Given the description of an element on the screen output the (x, y) to click on. 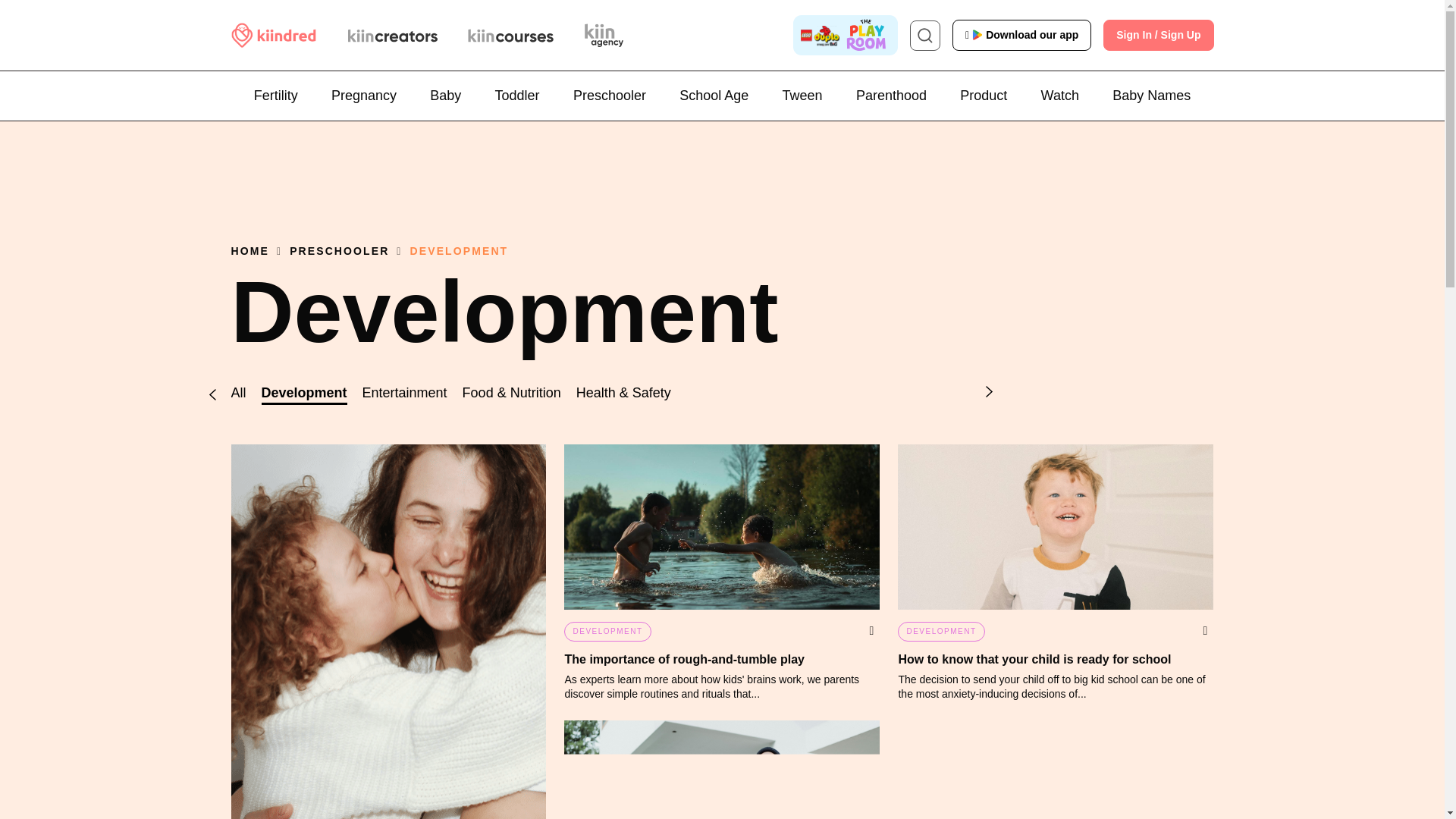
Lego Duplo (845, 35)
Fertility (275, 95)
playstore-btn (1023, 34)
Pregnancy (363, 95)
Download our app (1023, 34)
Fertility (275, 95)
kiindred (273, 34)
kiincourses (510, 34)
kiincreators (391, 34)
kiinagency (605, 34)
Toddler (517, 95)
Pregnancy (363, 95)
